Given the description of an element on the screen output the (x, y) to click on. 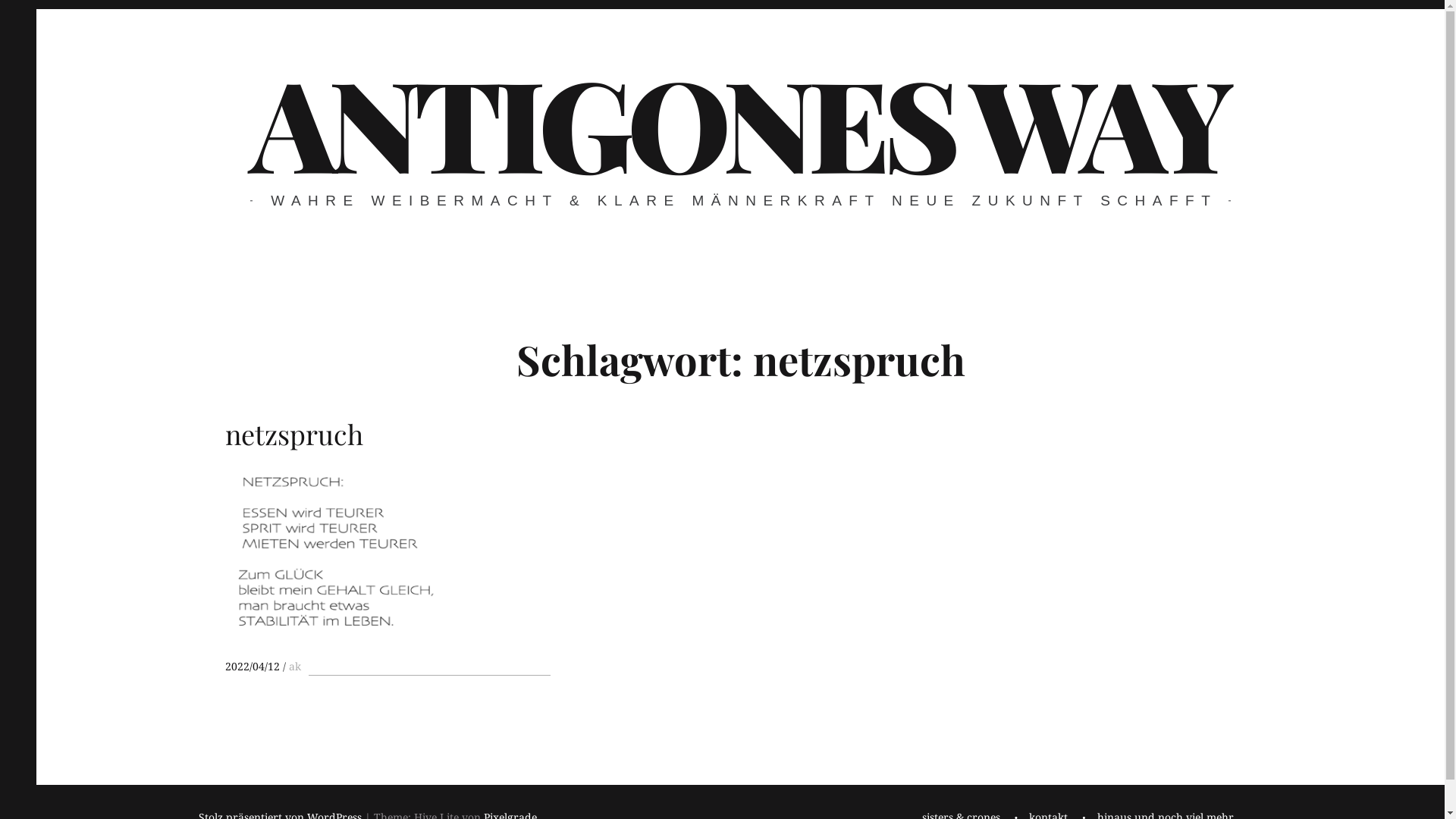
A Element type: text (386, 551)
Springe zum Inhalt Element type: text (35, 8)
ANTIGONES WAY Element type: text (738, 121)
netzspruch Element type: text (386, 427)
ak Element type: text (294, 665)
2022/04/12 Element type: text (251, 665)
